Given the description of an element on the screen output the (x, y) to click on. 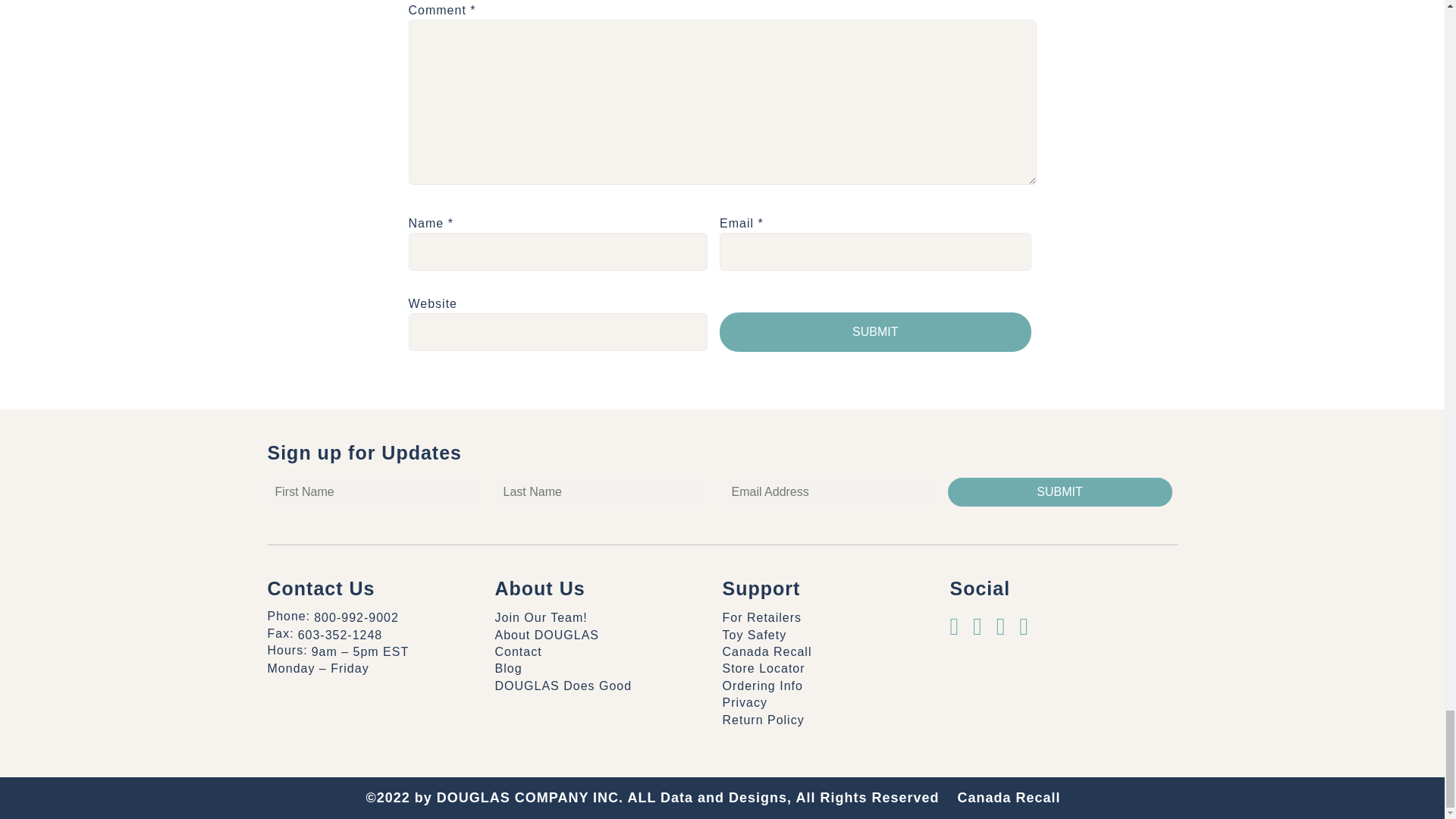
Submit (874, 332)
Submit (1059, 491)
